Given the description of an element on the screen output the (x, y) to click on. 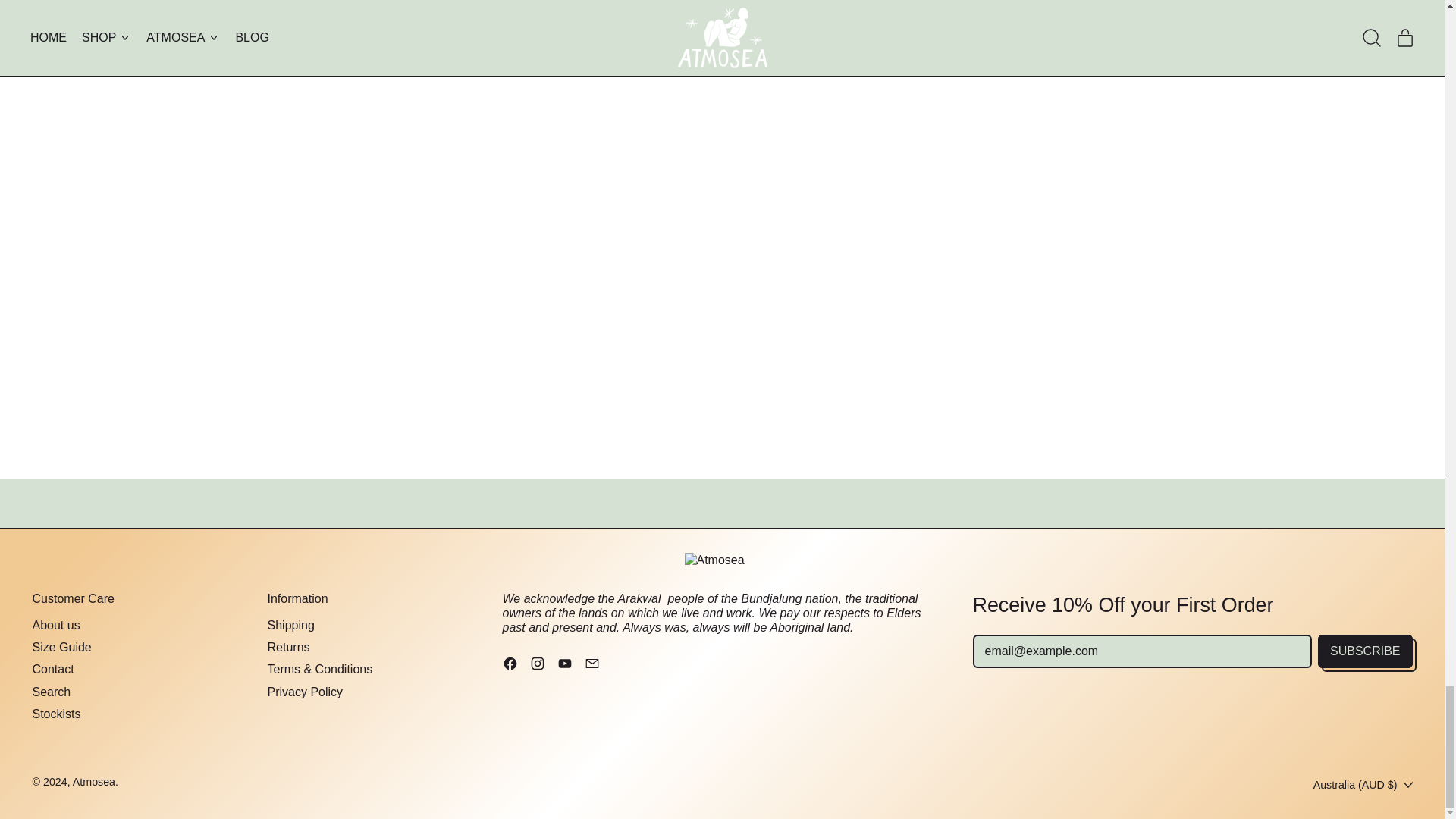
Size Guide (61, 646)
Contact (53, 668)
SURF JEWELLERY (722, 9)
About us (56, 625)
